Given the description of an element on the screen output the (x, y) to click on. 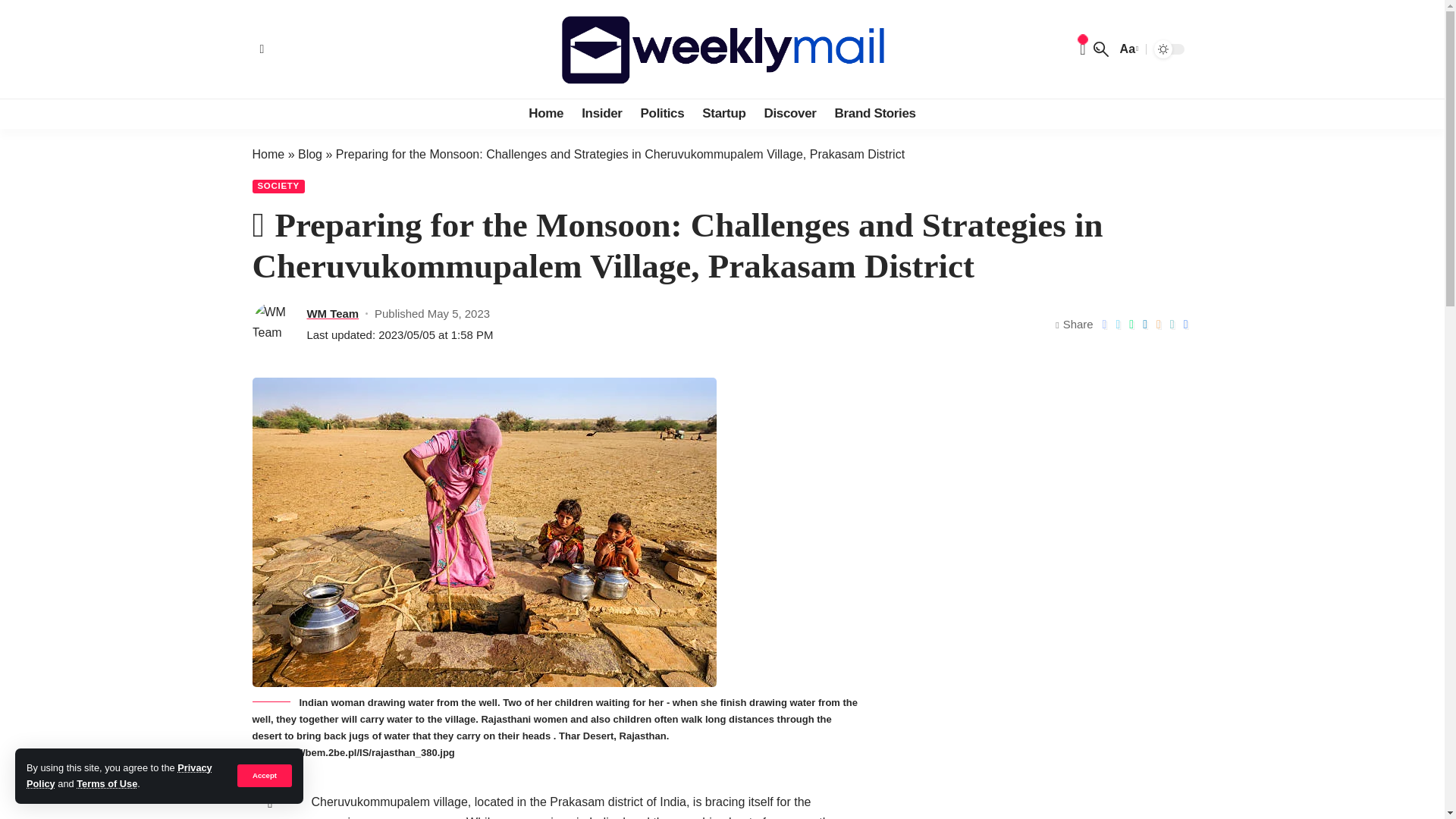
Politics (662, 113)
Accept (264, 775)
Startup (723, 113)
Home (545, 113)
Discover (789, 113)
Insider (601, 113)
Brand Stories (874, 113)
Aa (1127, 48)
Weekly Daily (721, 48)
Terms of Use (106, 783)
Privacy Policy (119, 775)
